Given the description of an element on the screen output the (x, y) to click on. 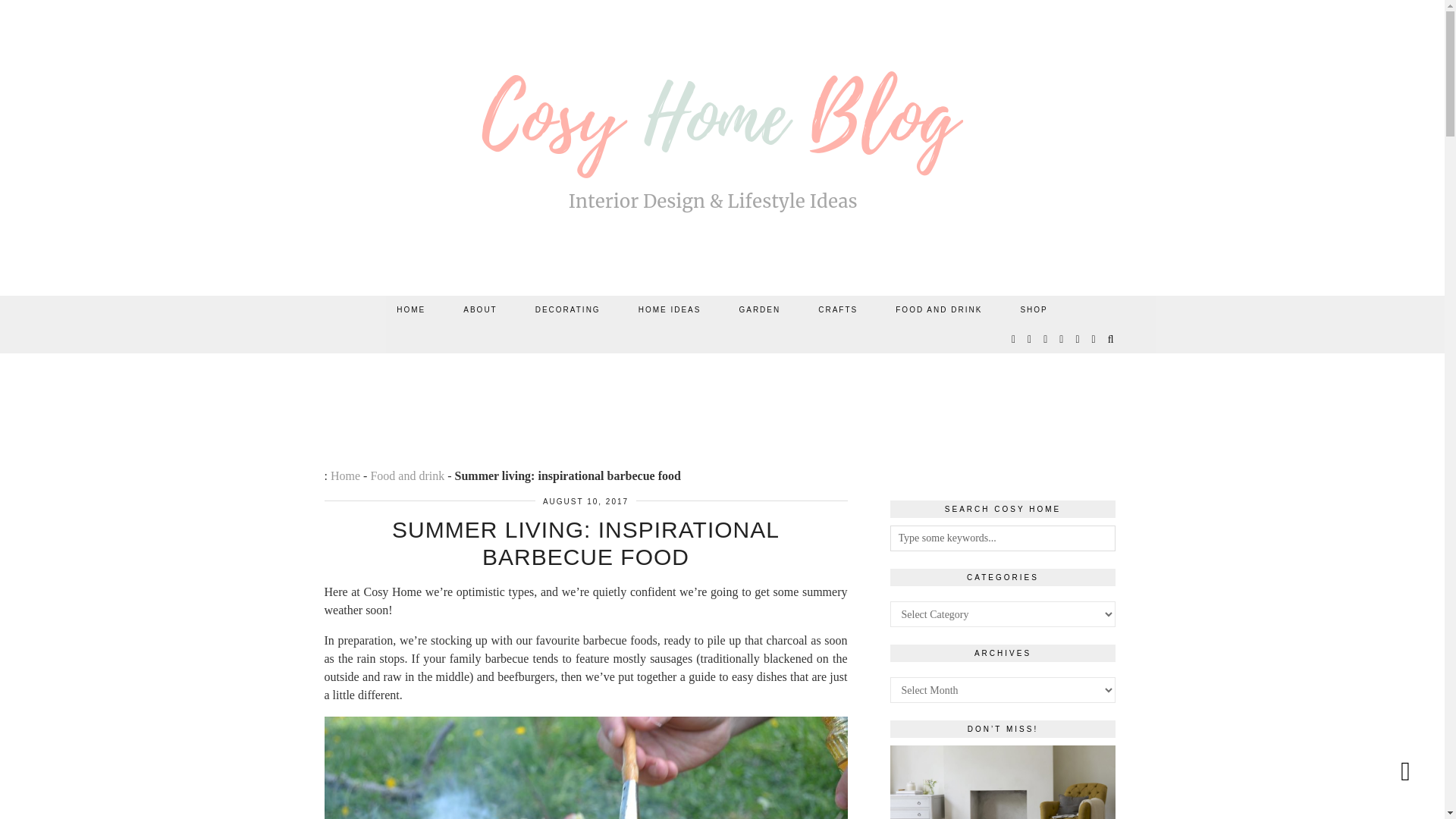
FOOD AND DRINK (938, 309)
Food and drink (406, 475)
Home (344, 475)
DECORATING (568, 309)
GARDEN (759, 309)
HOME (410, 309)
SHOP (1033, 309)
HOME IDEAS (670, 309)
Advertisement (721, 395)
ABOUT (479, 309)
CRAFTS (837, 309)
